Given the description of an element on the screen output the (x, y) to click on. 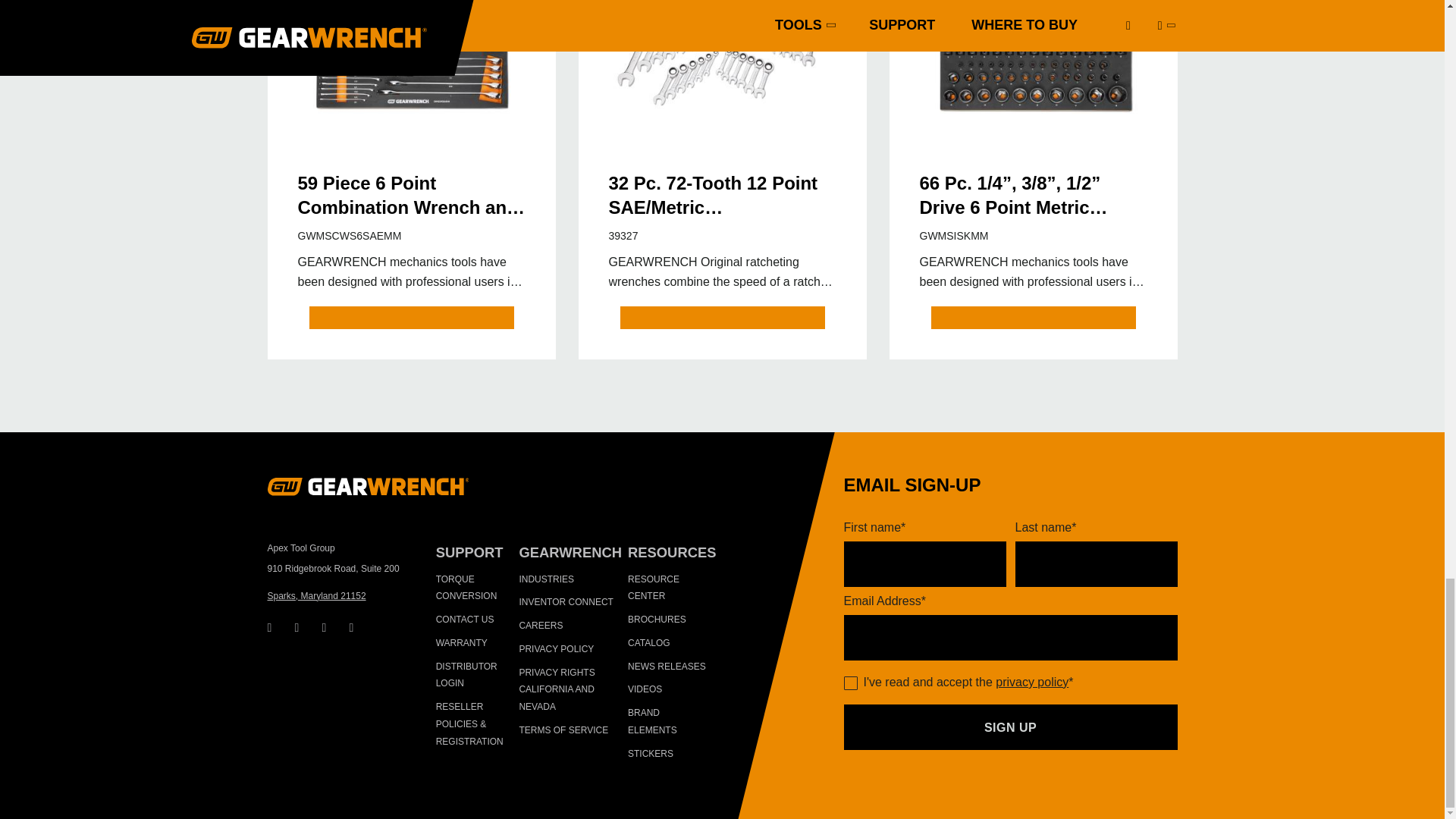
Sign Up (1009, 727)
true (850, 683)
